Given the description of an element on the screen output the (x, y) to click on. 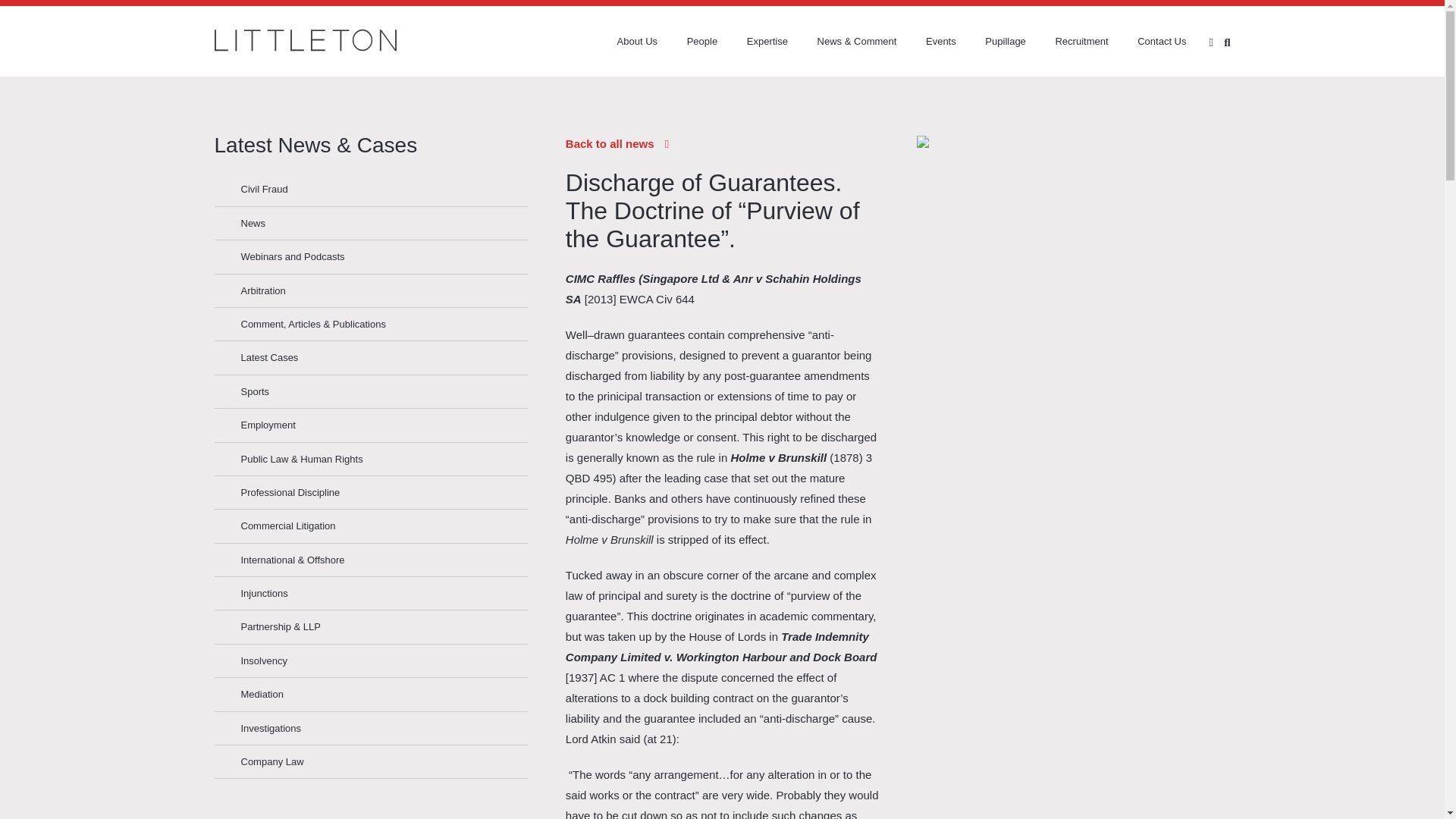
Expertise (753, 41)
People (689, 41)
About Us (624, 41)
